Given the description of an element on the screen output the (x, y) to click on. 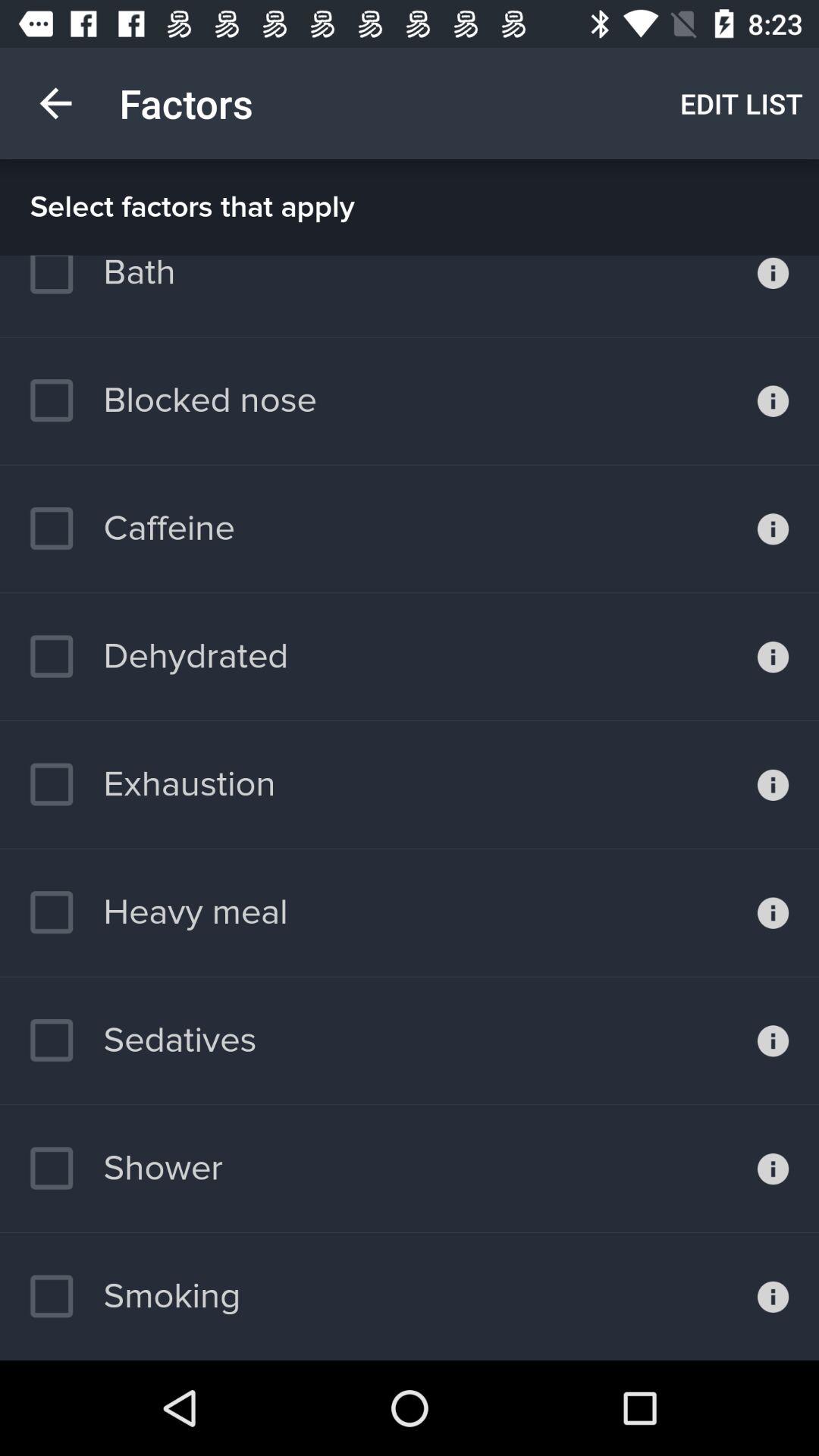
open bath information page (773, 295)
